Given the description of an element on the screen output the (x, y) to click on. 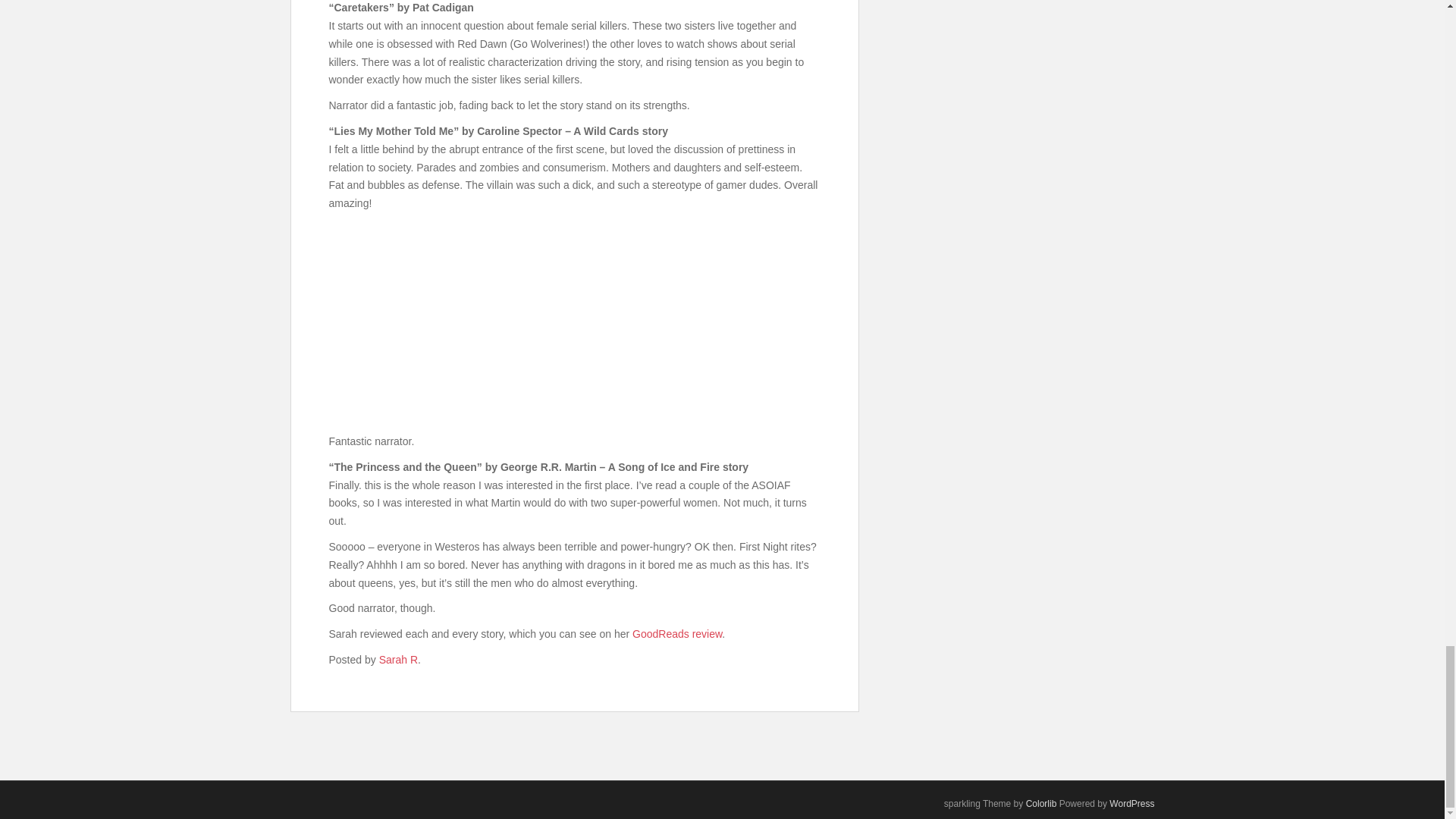
GoodReads review (676, 633)
